Given the description of an element on the screen output the (x, y) to click on. 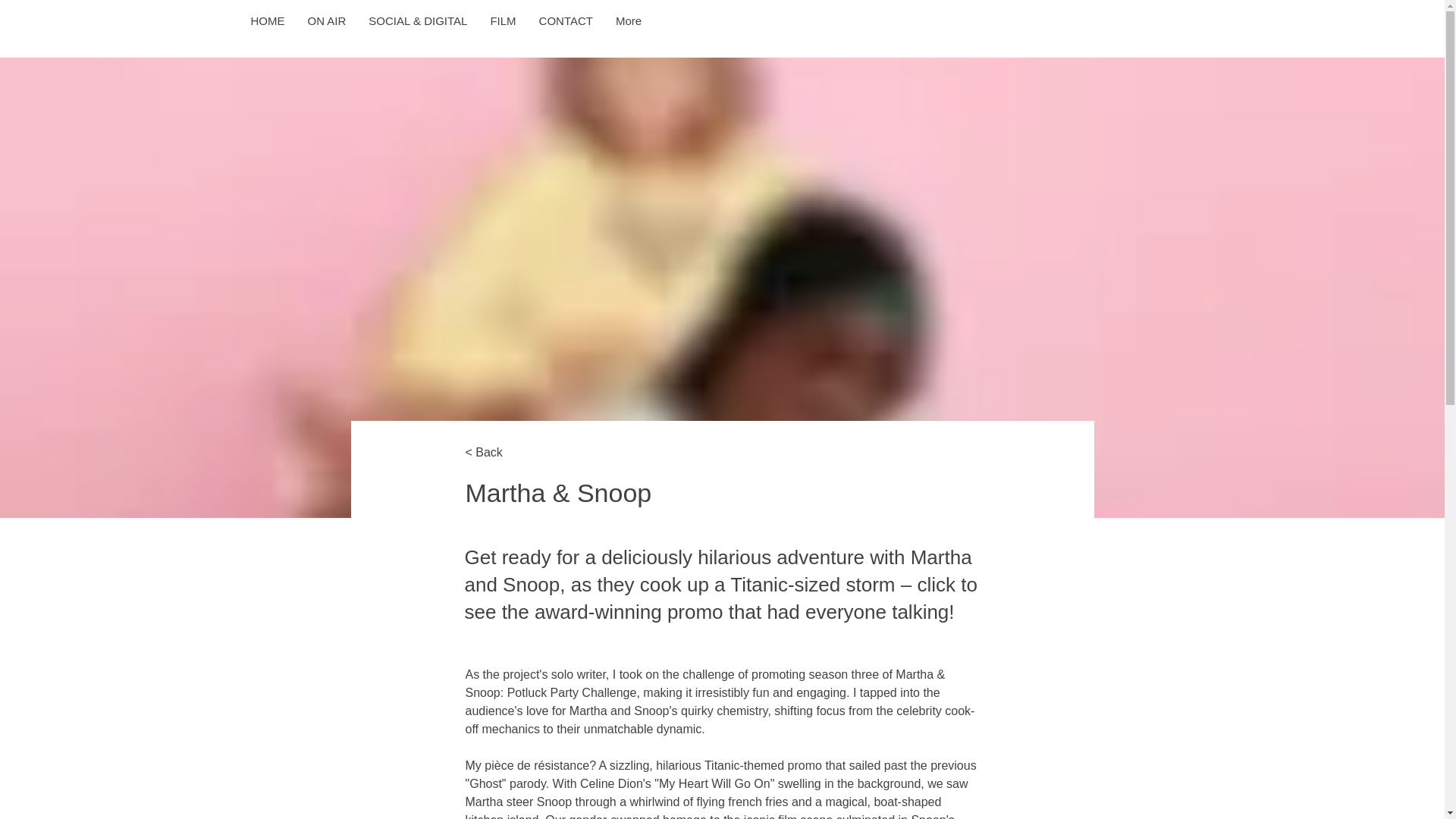
CONTACT (565, 28)
HOME (268, 28)
ON AIR (325, 28)
FILM (503, 28)
